Given the description of an element on the screen output the (x, y) to click on. 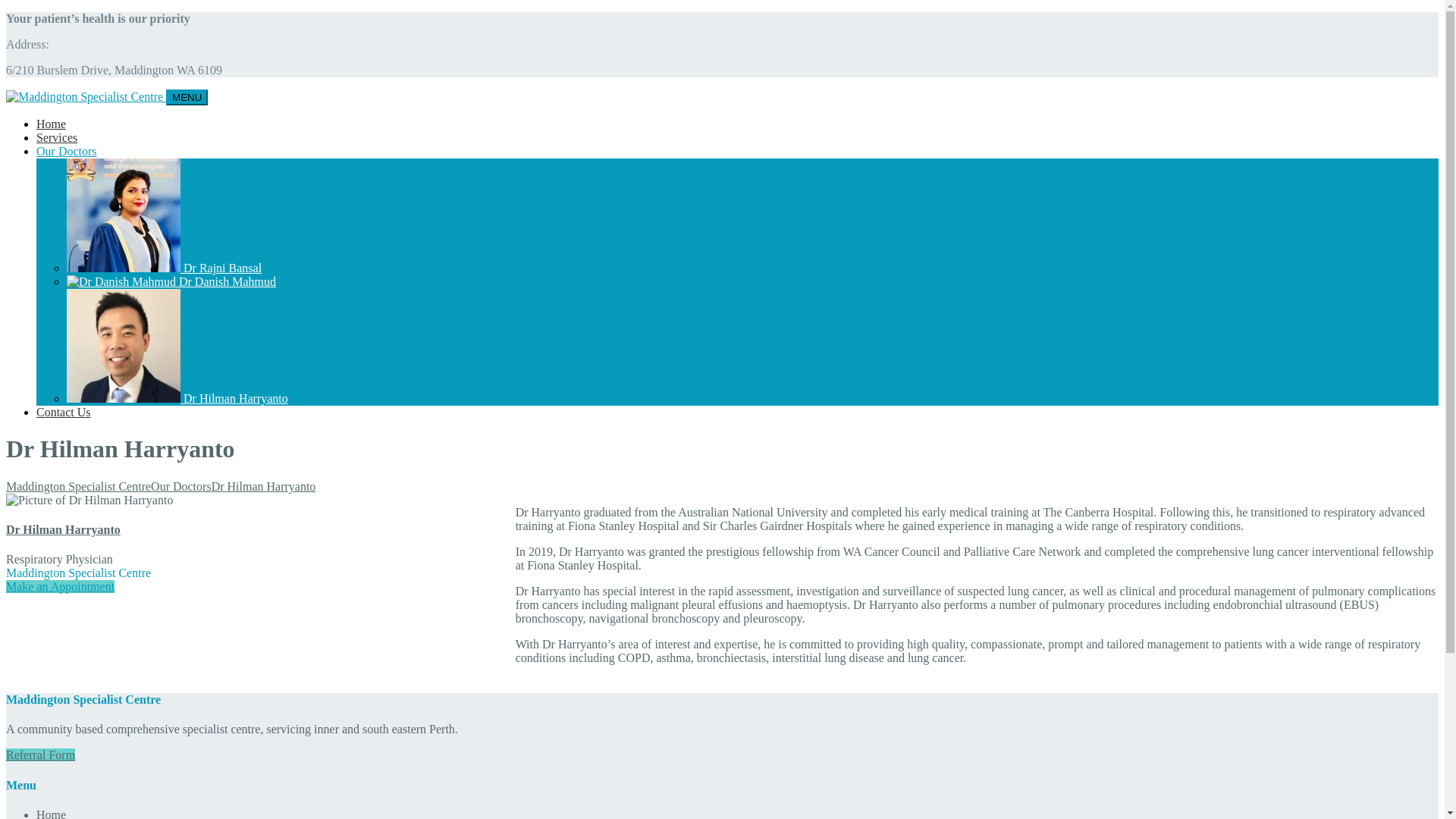
Services Element type: text (56, 137)
Our Doctors Element type: text (180, 486)
Referral Form Element type: text (40, 754)
Dr Rajni Bansal Element type: text (163, 267)
Dr Hilman Harryanto Element type: text (177, 398)
MENU Element type: text (186, 97)
Dr Hilman Harryanto Element type: text (263, 486)
Our Doctors Element type: text (66, 150)
Make an Appointment Element type: text (60, 586)
Home Element type: text (50, 123)
Contact Us Element type: text (63, 411)
Dr Hilman Harryanto Element type: text (63, 529)
Dr Danish Mahmud Element type: text (171, 281)
Maddington Specialist Centre Element type: text (78, 486)
